Given the description of an element on the screen output the (x, y) to click on. 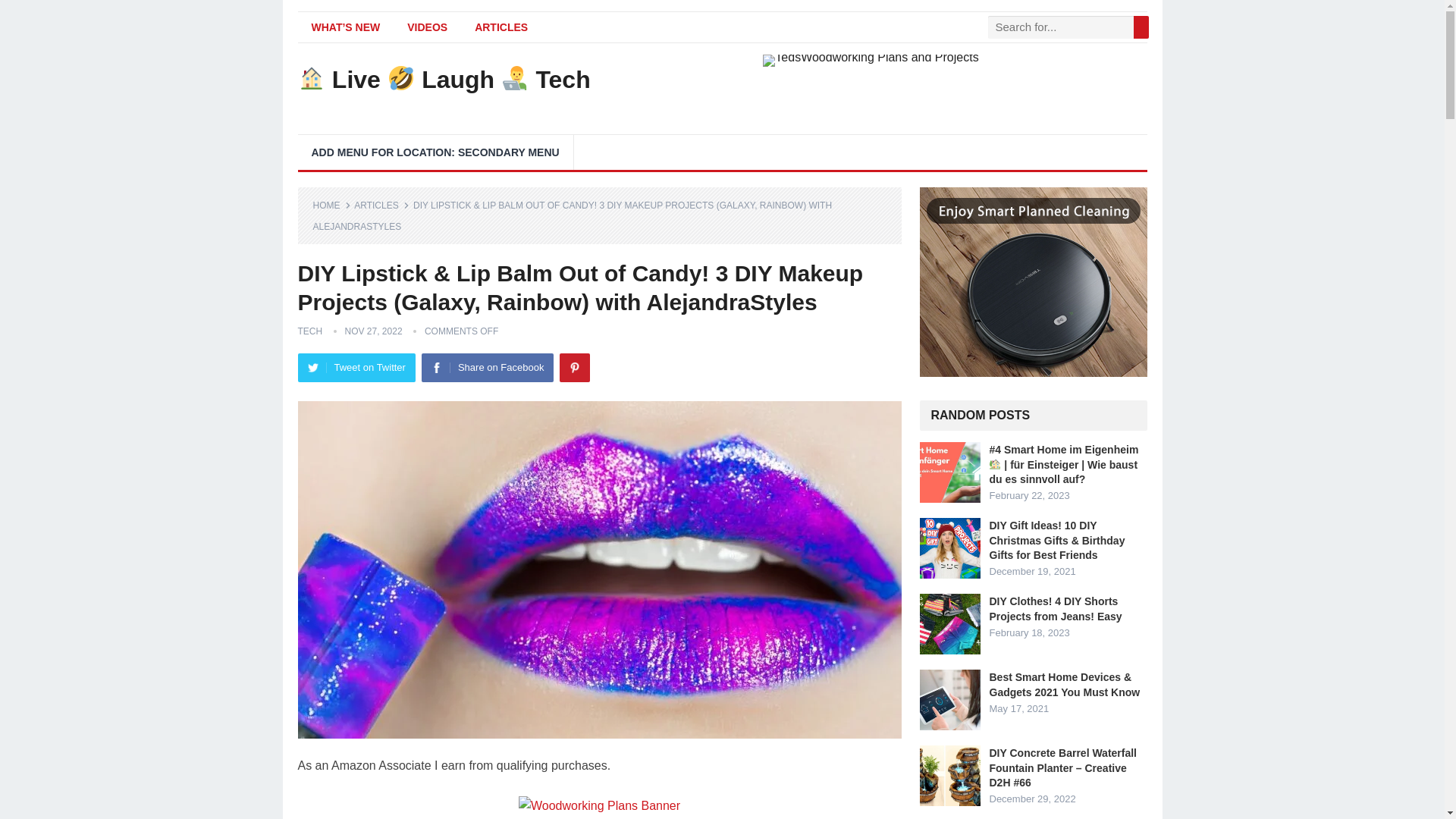
Pinterest (574, 367)
ARTICLES (381, 204)
Tweet on Twitter (355, 367)
ADD MENU FOR LOCATION: SECONDARY MENU (434, 152)
View all posts in Articles (381, 204)
Share on Facebook (487, 367)
TECH (309, 330)
ARTICLES (501, 27)
Live Laugh Tech (443, 78)
VIDEOS (427, 27)
